Given the description of an element on the screen output the (x, y) to click on. 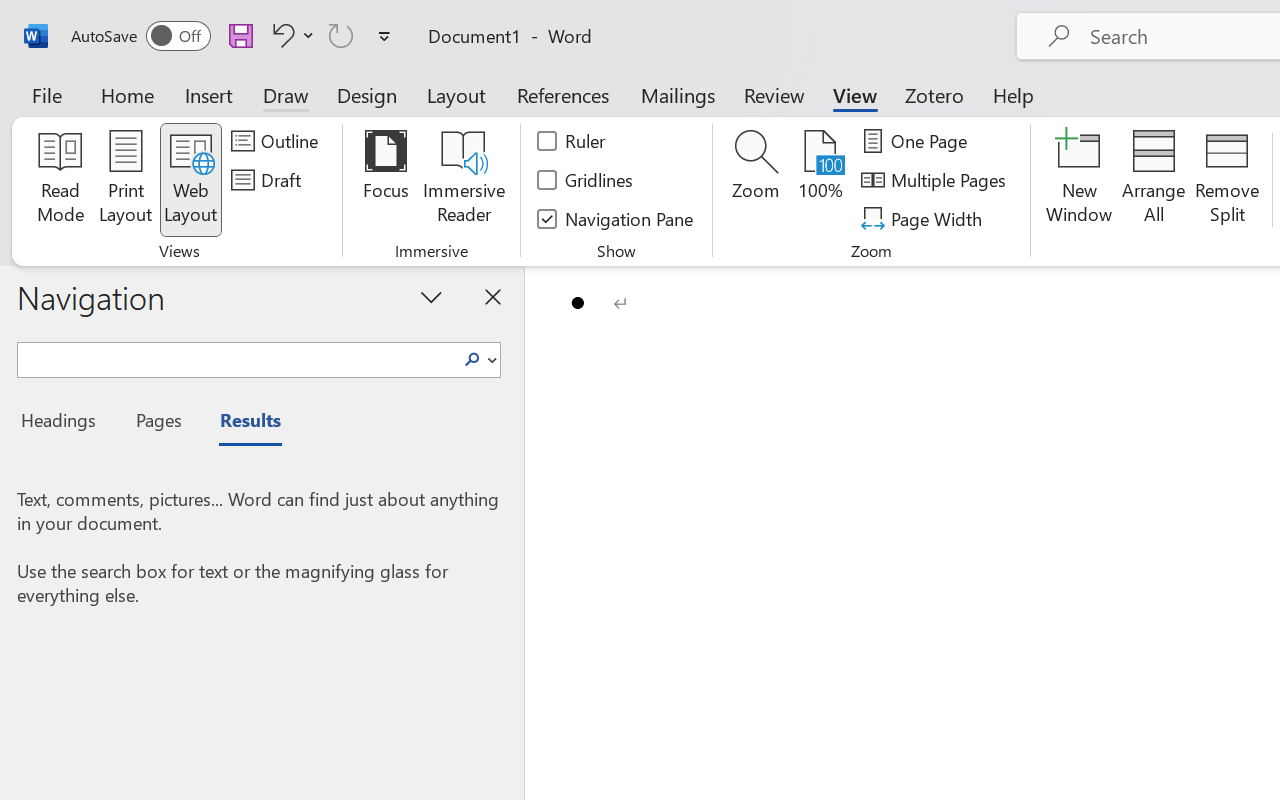
Zoom... (755, 179)
Undo Bullet Default (280, 35)
Headings (64, 423)
100% (820, 179)
Remove Split (1227, 179)
Results (240, 423)
Focus (385, 179)
